Given the description of an element on the screen output the (x, y) to click on. 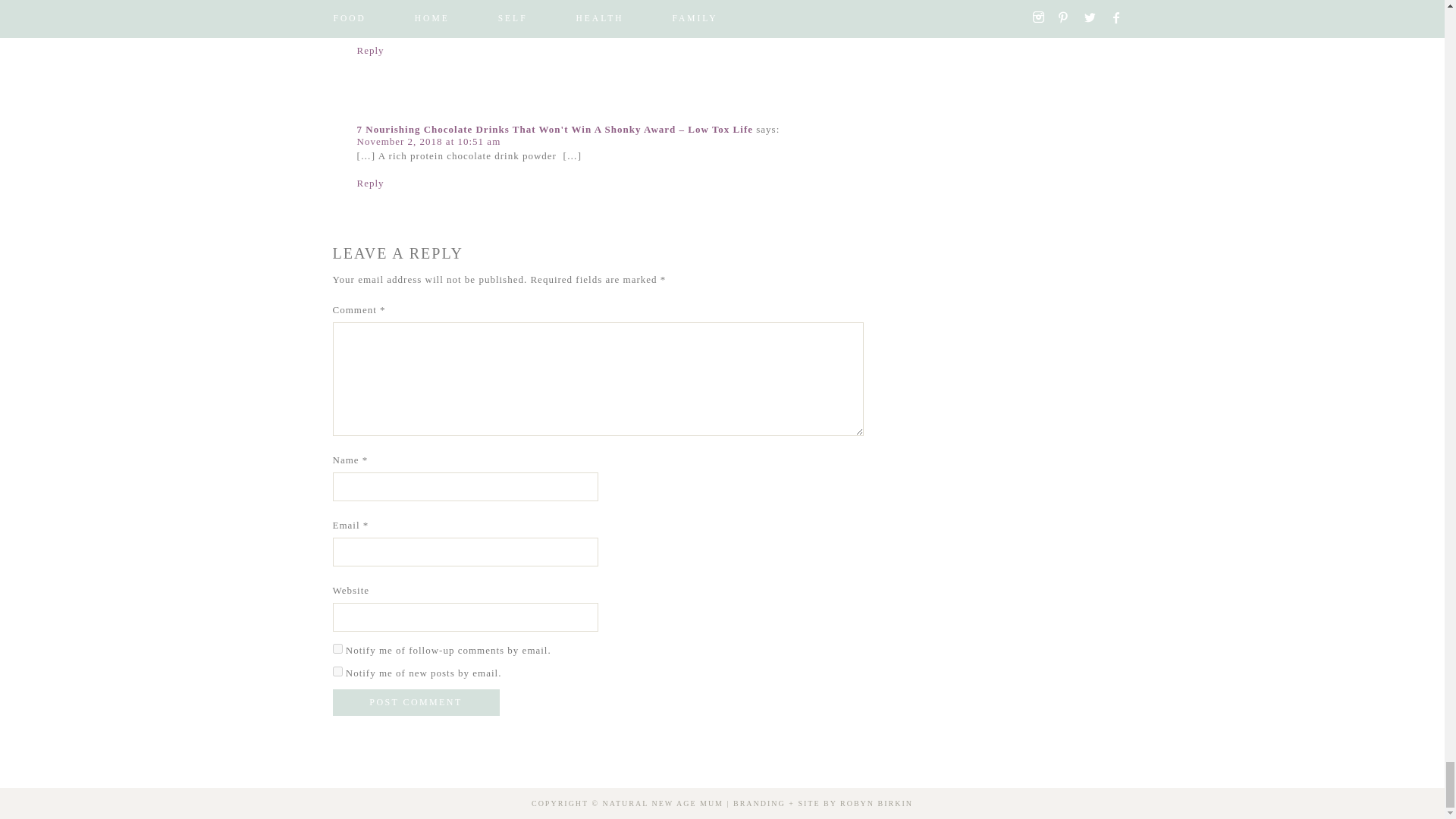
Post Comment (415, 702)
subscribe (336, 648)
Pinterest (1377, 738)
subscribe (336, 671)
Twitter (1403, 739)
